Given the description of an element on the screen output the (x, y) to click on. 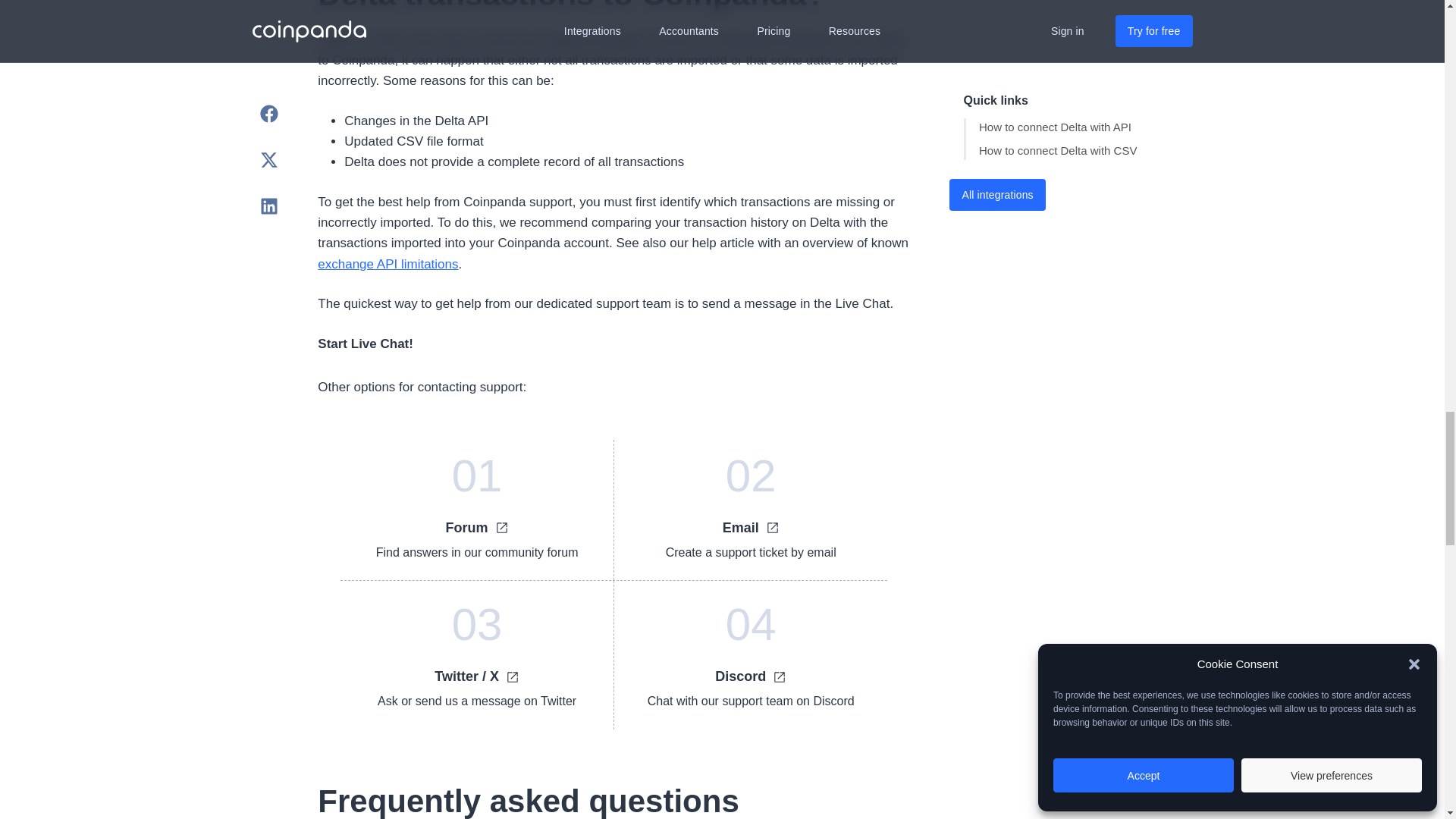
Start Live Chat! (365, 343)
Forum (477, 527)
exchange API limitations (387, 264)
Discord (750, 675)
Email (751, 527)
